Given the description of an element on the screen output the (x, y) to click on. 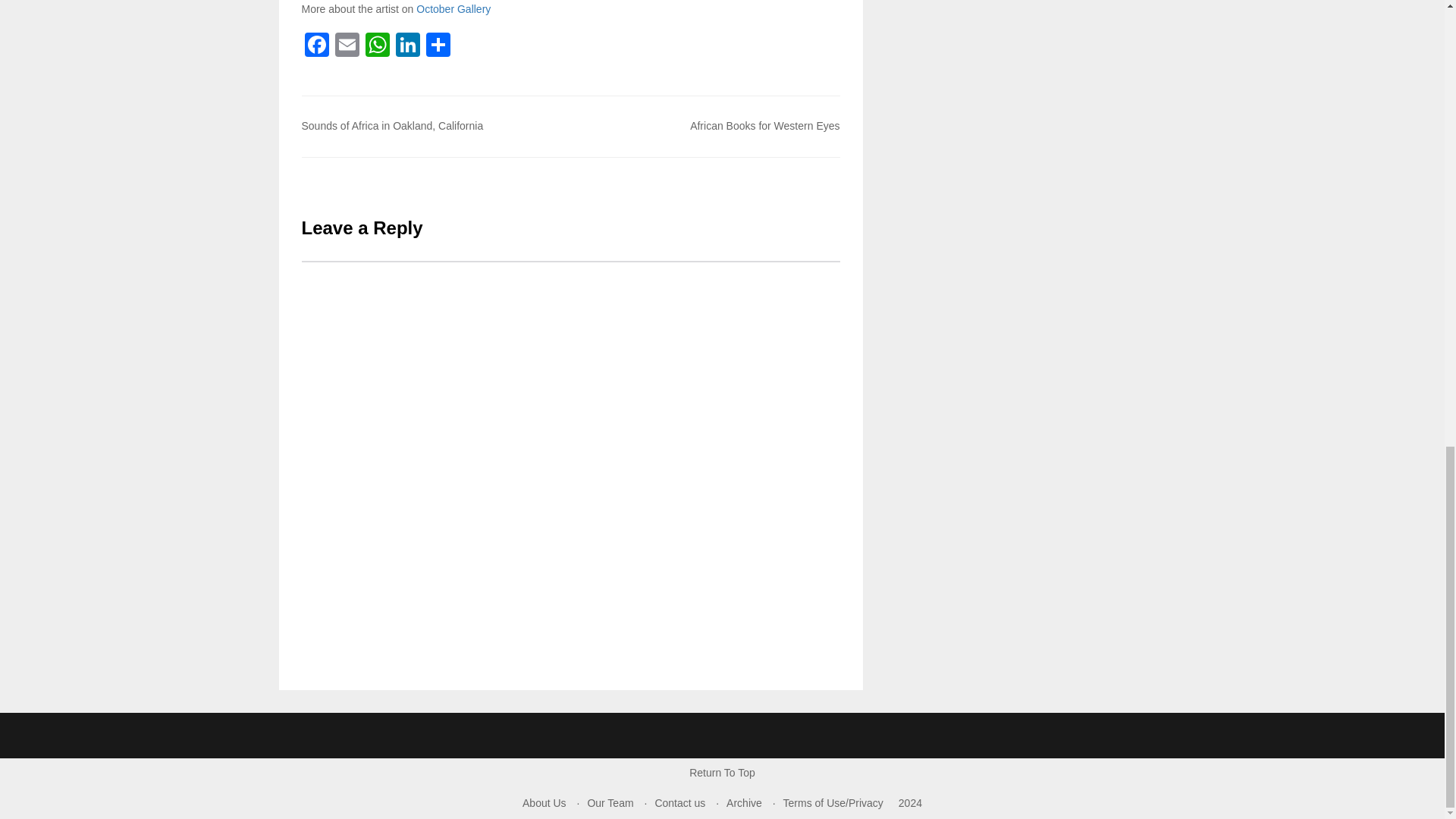
Facebook (316, 46)
Sounds of Africa in Oakland, California (392, 125)
Share (437, 46)
October Gallery (453, 9)
Email (346, 46)
WhatsApp (377, 46)
LinkedIn (408, 46)
